Given the description of an element on the screen output the (x, y) to click on. 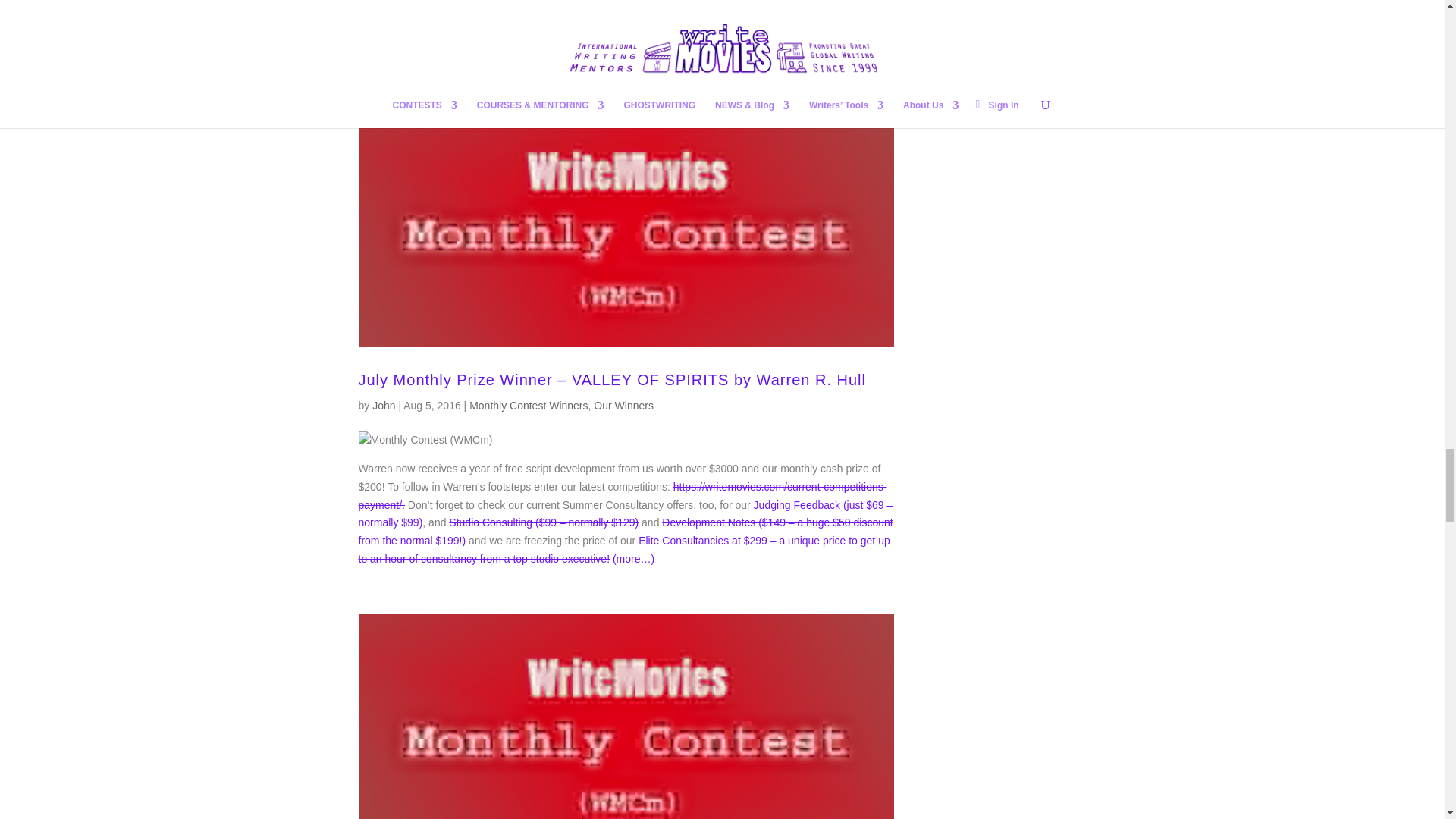
Posts by John (383, 405)
